Given the description of an element on the screen output the (x, y) to click on. 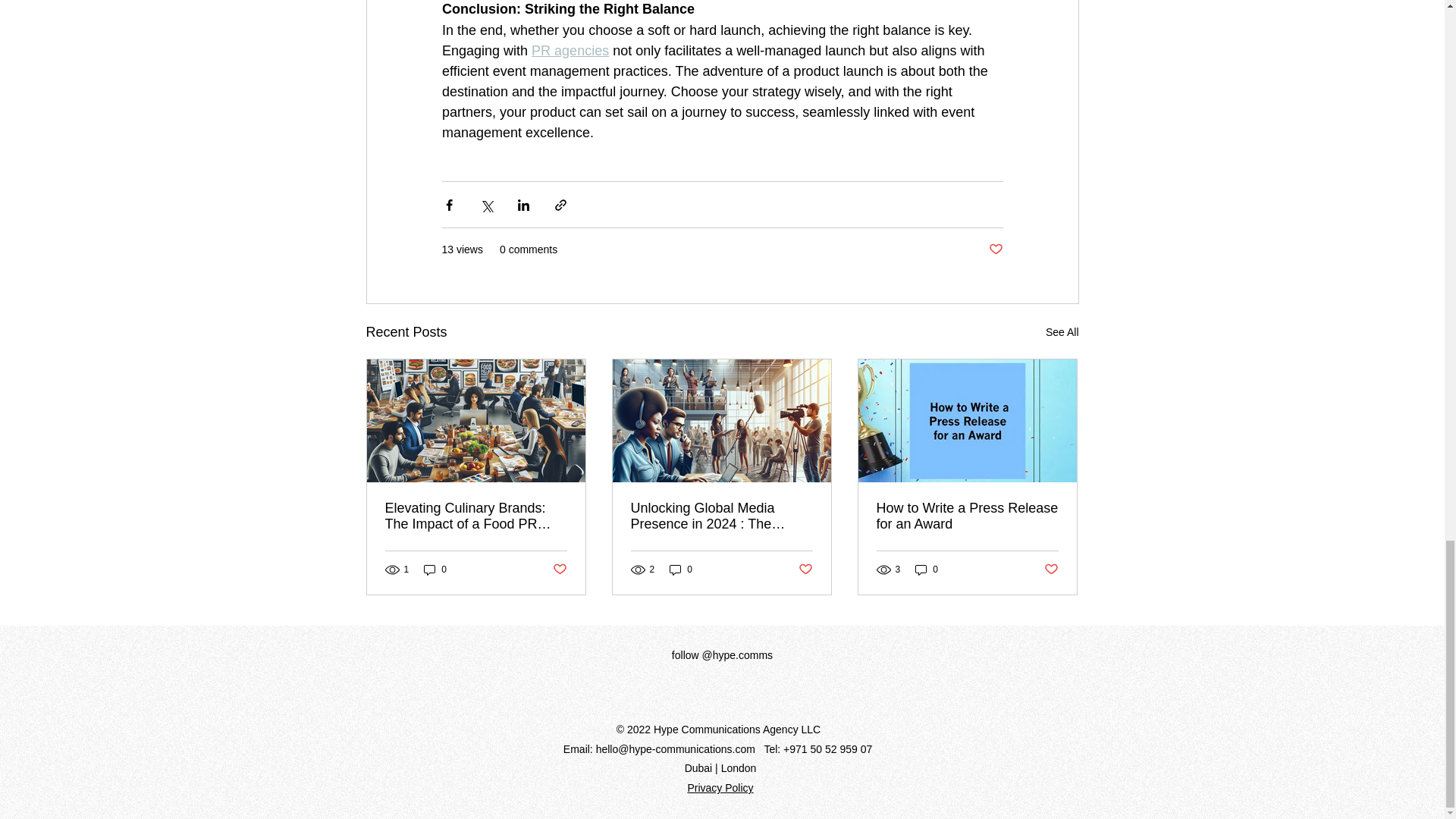
0 (926, 569)
0 (435, 569)
See All (1061, 332)
How to Write a Press Release for an Award (967, 516)
Post not marked as liked (1050, 569)
Post not marked as liked (558, 569)
Post not marked as liked (995, 249)
Post not marked as liked (804, 569)
0 (681, 569)
PR agencies (569, 50)
